Given the description of an element on the screen output the (x, y) to click on. 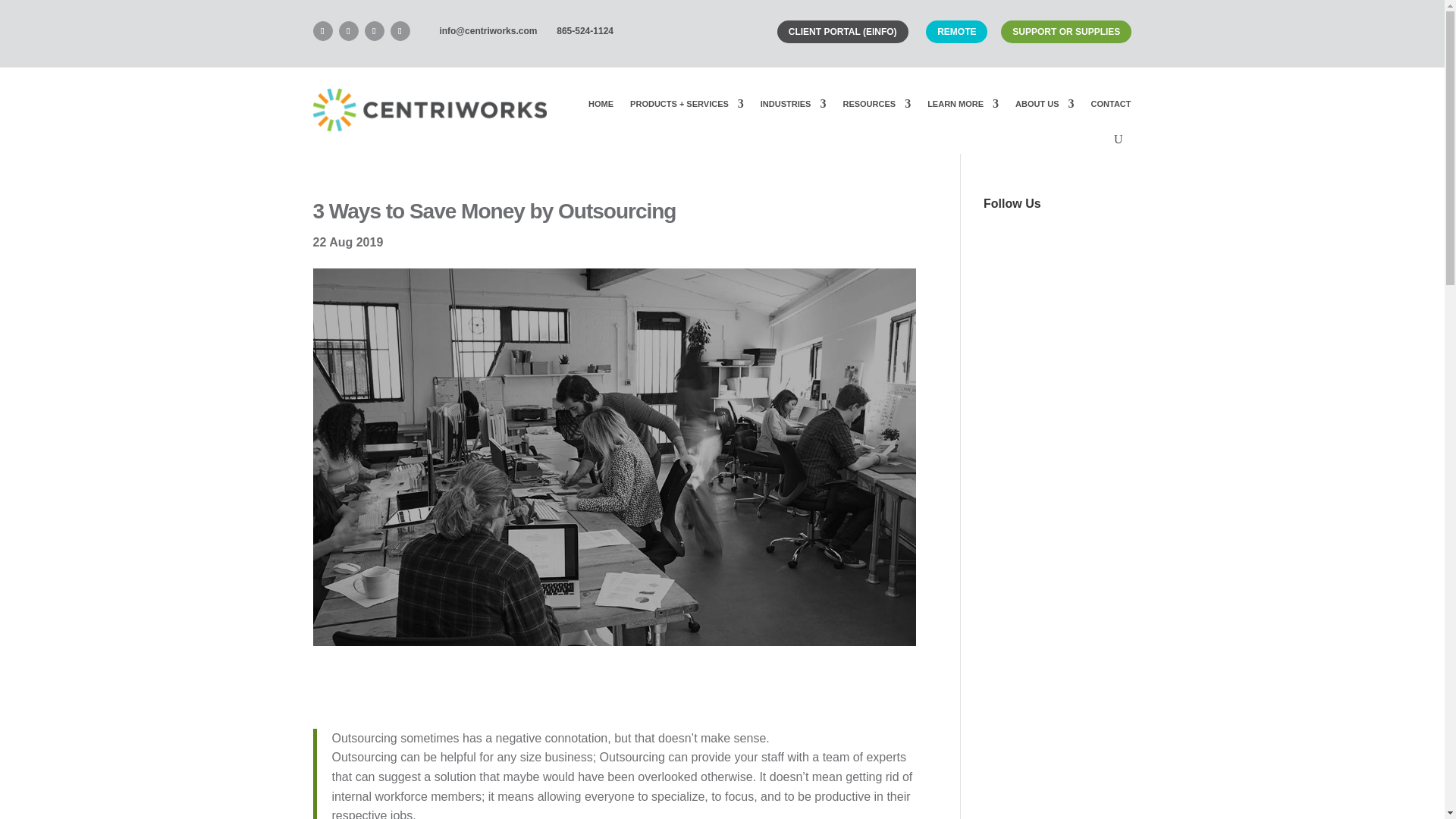
Follow on Facebook (347, 30)
Follow on LinkedIn (322, 30)
RESOURCES (877, 103)
Follow on Youtube (374, 30)
LEARN MORE (962, 103)
SUPPORT OR SUPPLIES (1066, 31)
Follow on Twitter (399, 30)
865-524-1124 (585, 30)
ABOUT US (1044, 103)
INDUSTRIES (793, 103)
